Given the description of an element on the screen output the (x, y) to click on. 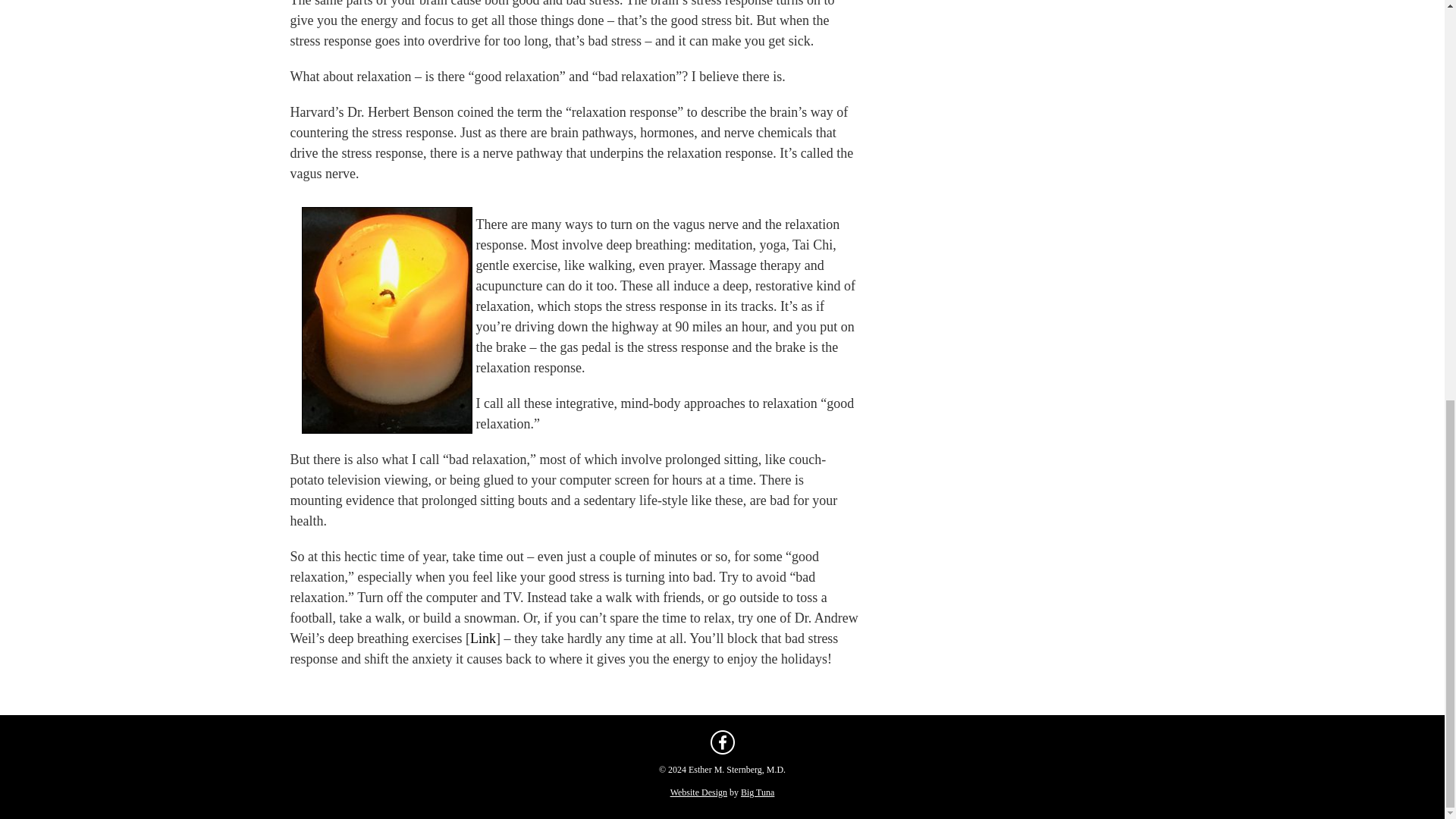
Big Tuna (757, 792)
Link (483, 638)
Website Design (697, 792)
